Given the description of an element on the screen output the (x, y) to click on. 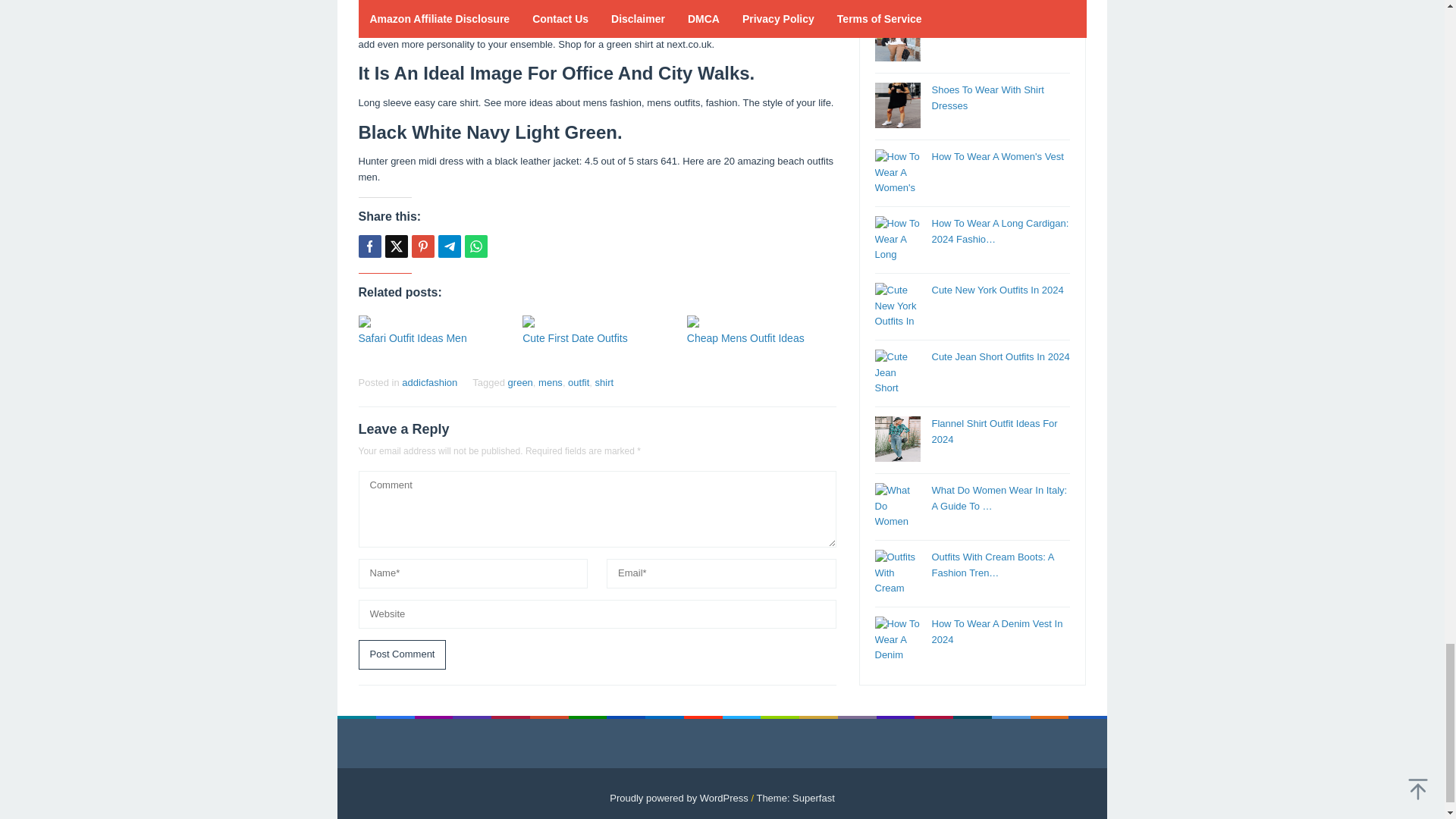
Post Comment (401, 654)
Whatsapp (475, 246)
Share this (369, 246)
green (520, 382)
Safari Outfit Ideas Men (411, 337)
Cheap Mens Outfit Ideas (746, 337)
Permalink to: Safari Outfit Ideas Men (432, 321)
addicfashion (429, 382)
Cute First Date Outfits (574, 337)
Tweet this (396, 246)
